Given the description of an element on the screen output the (x, y) to click on. 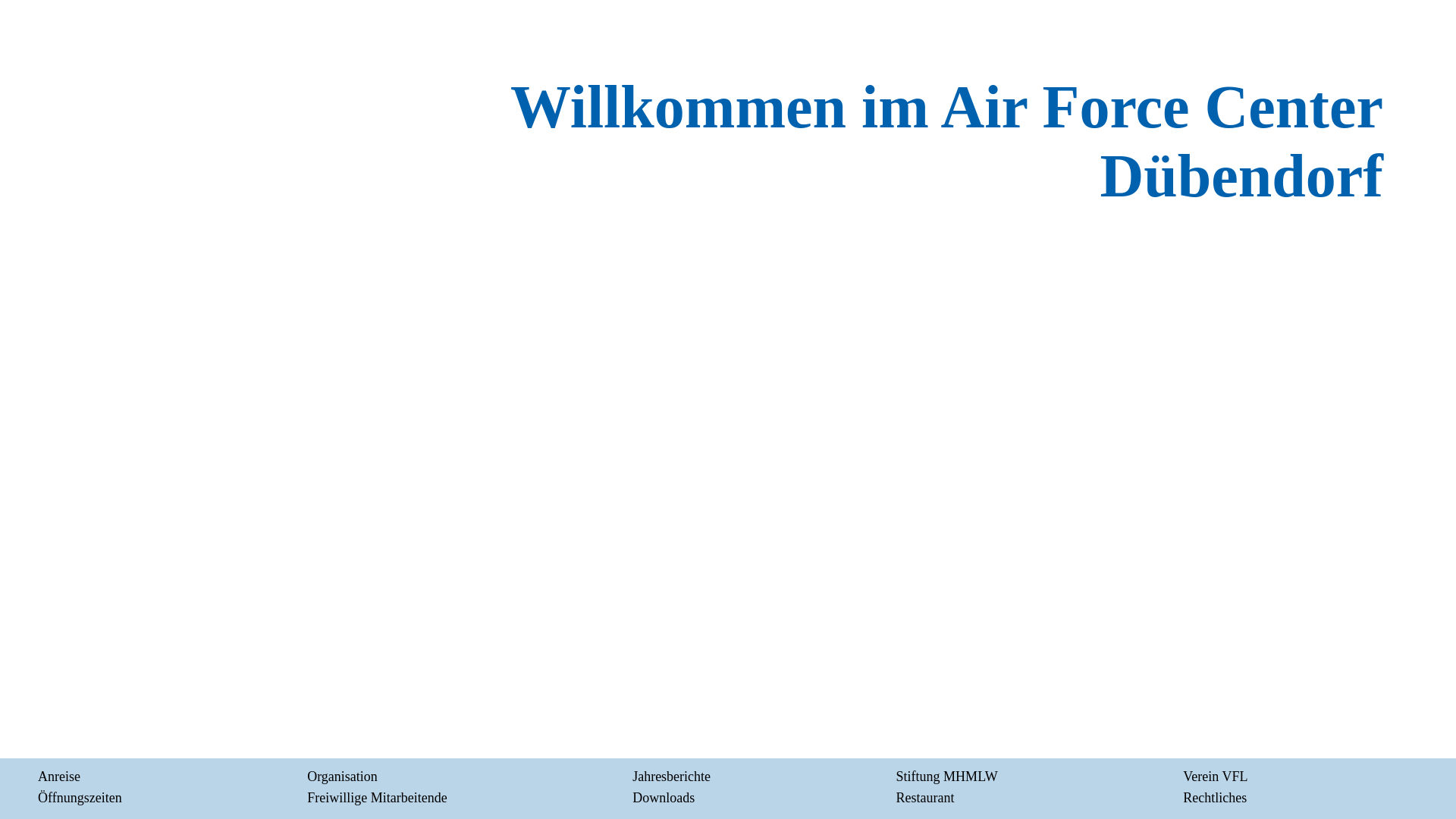
Anreise Element type: text (58, 776)
Verein VFL Element type: text (1215, 776)
Freiwillige Mitarbeitende Element type: text (376, 797)
Jahresberichte Element type: text (671, 776)
Stiftung MHMLW Element type: text (946, 776)
Organisation Element type: text (342, 776)
Rechtliches Element type: text (1214, 797)
Downloads Element type: text (663, 797)
Restaurant Element type: text (925, 797)
